Given the description of an element on the screen output the (x, y) to click on. 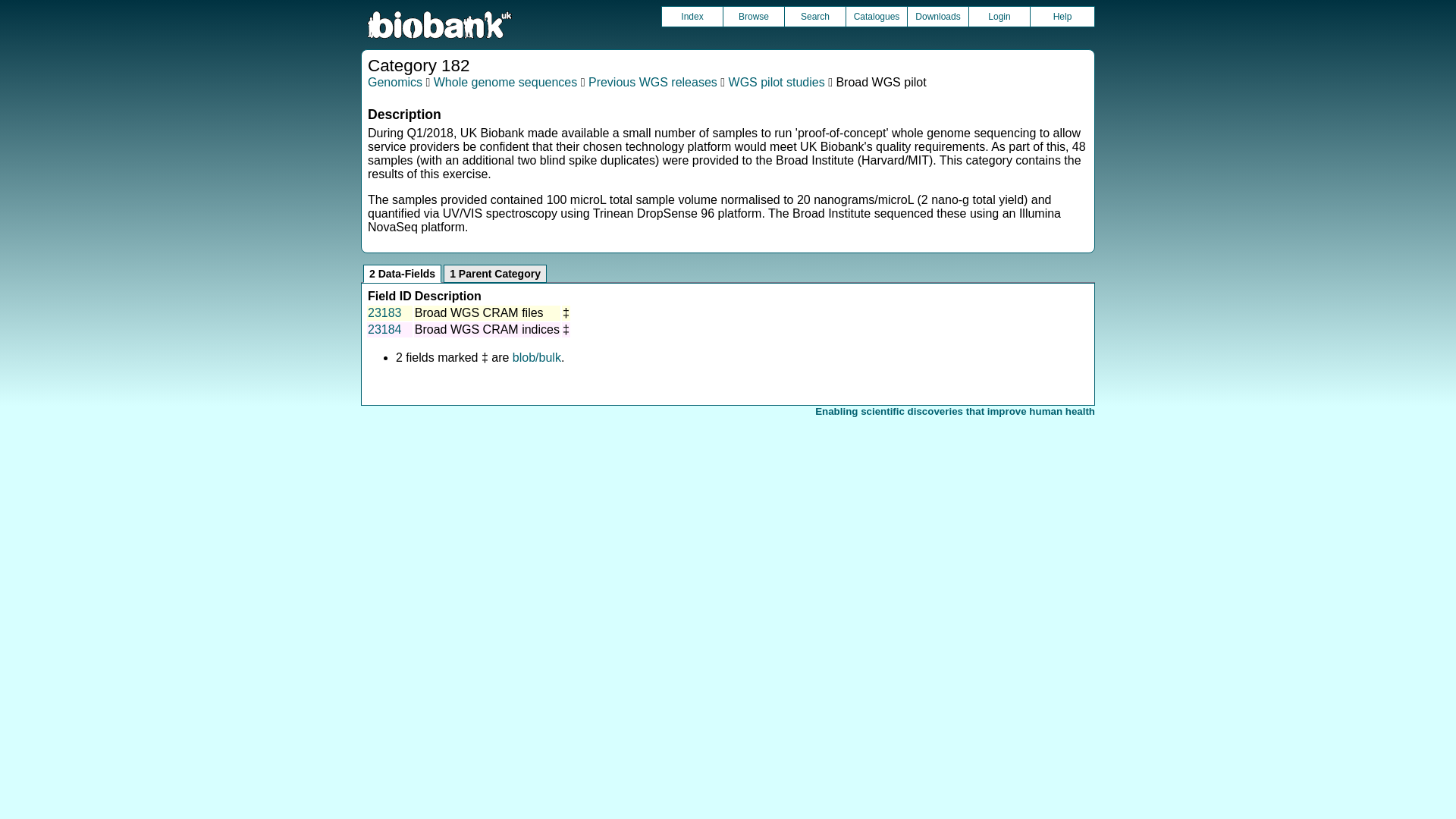
Browse (753, 16)
Help (1062, 16)
Login (999, 16)
Broad WGS CRAM indices (486, 328)
Broad WGS CRAM files (478, 312)
Previous WGS releases (652, 82)
Whole genome sequences (504, 82)
WGS pilot studies (777, 82)
Genomics (395, 82)
Index (692, 16)
Search (814, 16)
1 Parent Category (495, 273)
Catalogues (876, 16)
23184 (384, 328)
23183 (384, 312)
